Given the description of an element on the screen output the (x, y) to click on. 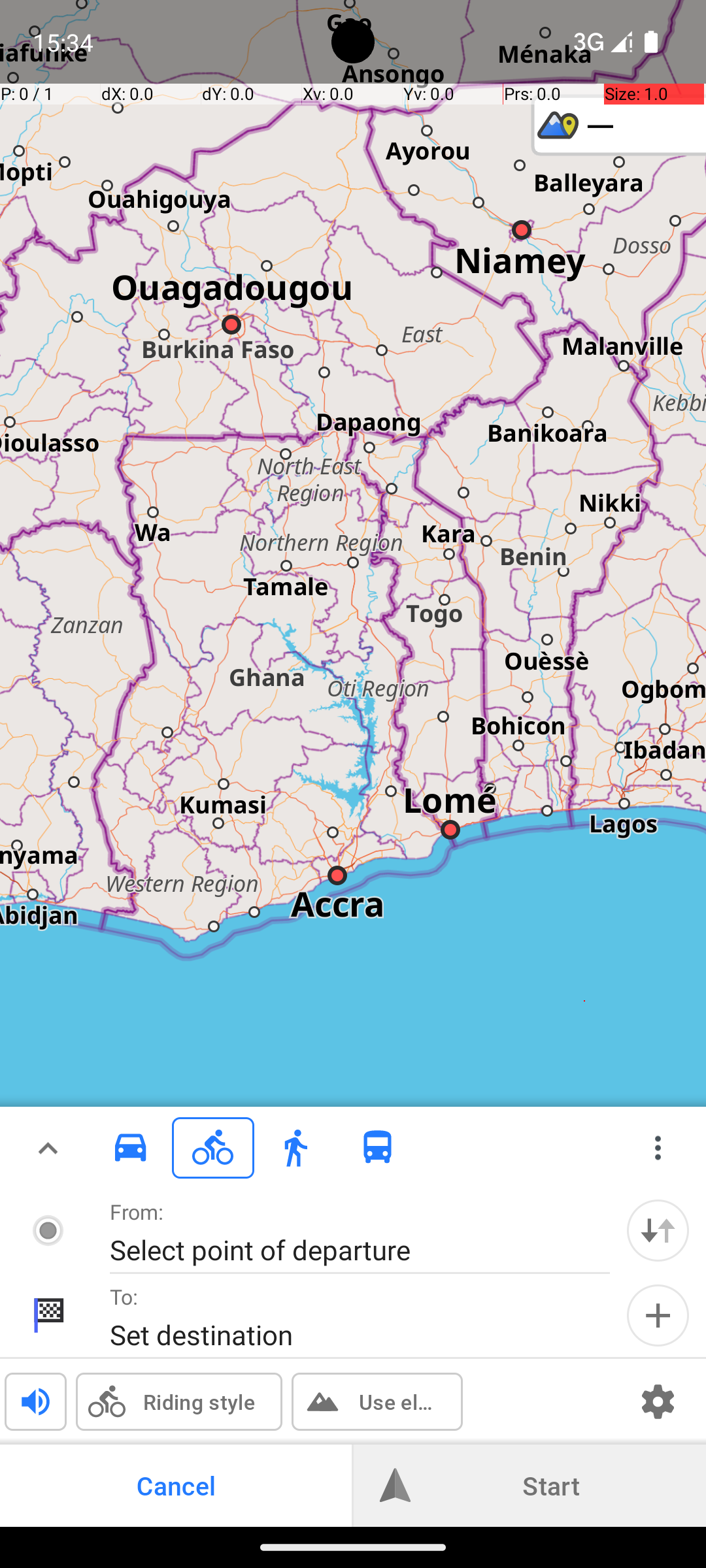
fold/unfold Element type: android.widget.ImageView (48, 1147)
Choose app modes Element type: android.widget.ImageView (657, 1147)
Cycling Element type: android.widget.FrameLayout (212, 1147)
Walking Element type: android.widget.FrameLayout (295, 1147)
From: Element type: android.widget.TextView (136, 1211)
Select point of departure Element type: android.widget.TextView (345, 1249)
Swap Element type: android.widget.FrameLayout (657, 1230)
To: Element type: android.widget.TextView (123, 1296)
Set destination Element type: android.widget.TextView (345, 1334)
Driving unchecked Element type: android.widget.ImageView (130, 1147)
Cycling checked Element type: android.widget.ImageView (212, 1147)
Walking unchecked Element type: android.widget.ImageView (294, 1147)
Public transport unchecked Element type: android.widget.ImageView (377, 1147)
Riding style Element type: android.widget.TextView (198, 1401)
Use elevation data Element type: android.widget.TextView (396, 1401)
